Given the description of an element on the screen output the (x, y) to click on. 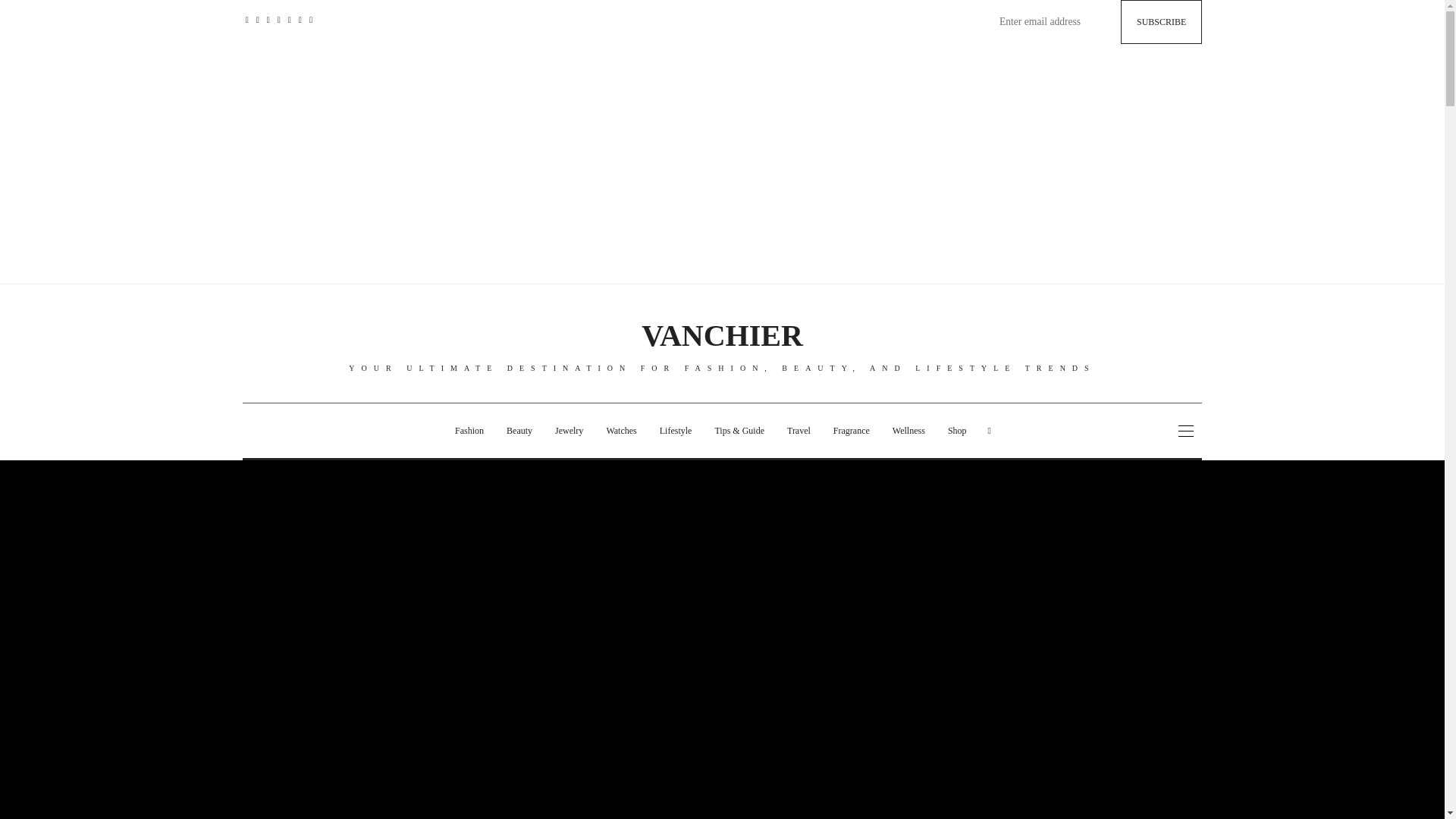
Beauty (519, 430)
VANCHIER (722, 335)
Lifestyle (675, 430)
Fragrance (851, 430)
Travel (799, 430)
Shop (957, 430)
Jewelry (568, 430)
Fashion (469, 430)
Subscribe (1161, 22)
Subscribe (1161, 22)
Wellness (908, 430)
Watches (620, 430)
